Given the description of an element on the screen output the (x, y) to click on. 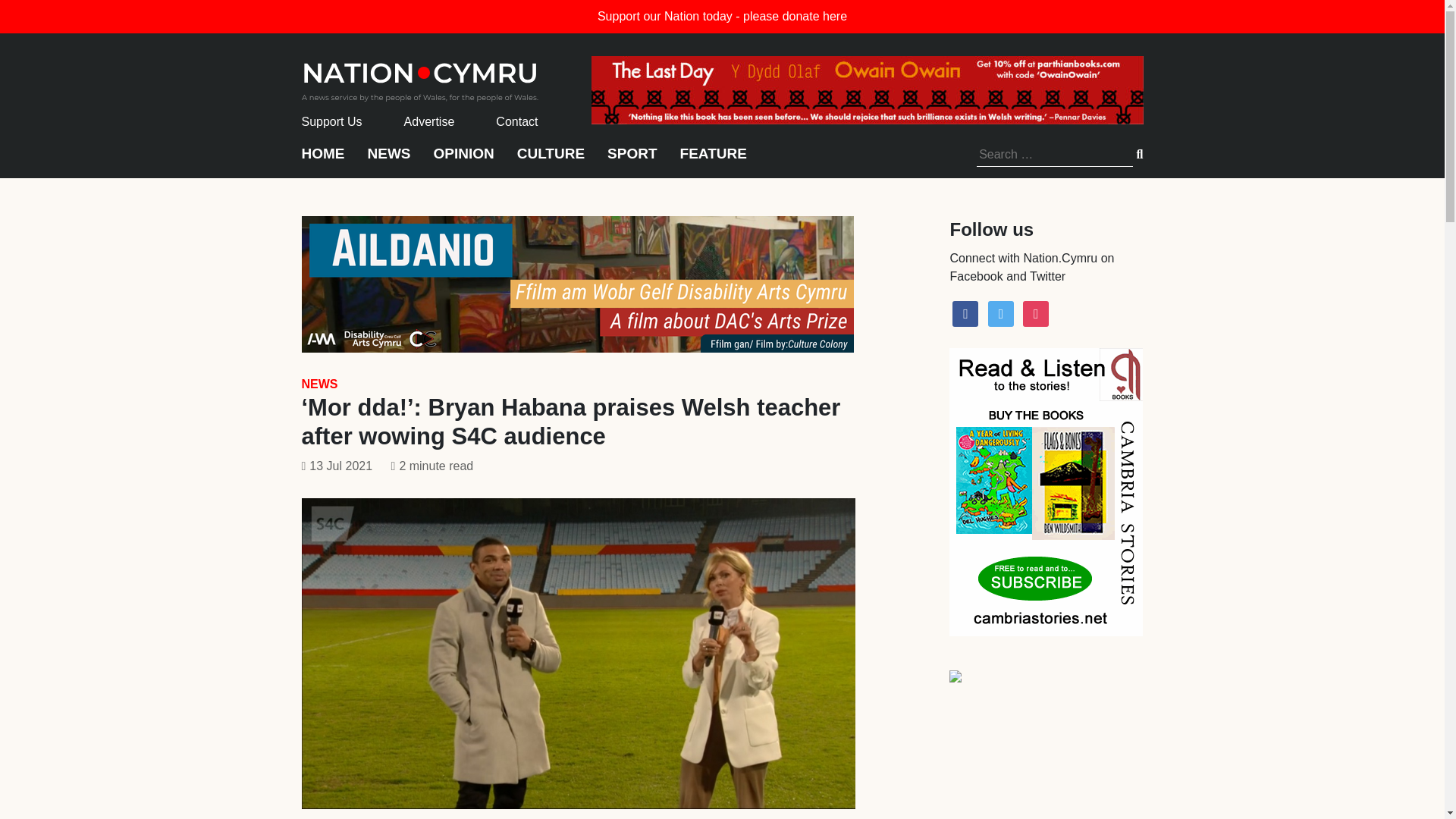
home (419, 77)
HOME (323, 160)
SPORT (631, 160)
Contact (516, 121)
NEWS (319, 383)
FEATURE (712, 160)
NEWS (388, 160)
OPINION (464, 160)
Support Us (331, 121)
Advertise (429, 121)
CULTURE (550, 160)
